Given the description of an element on the screen output the (x, y) to click on. 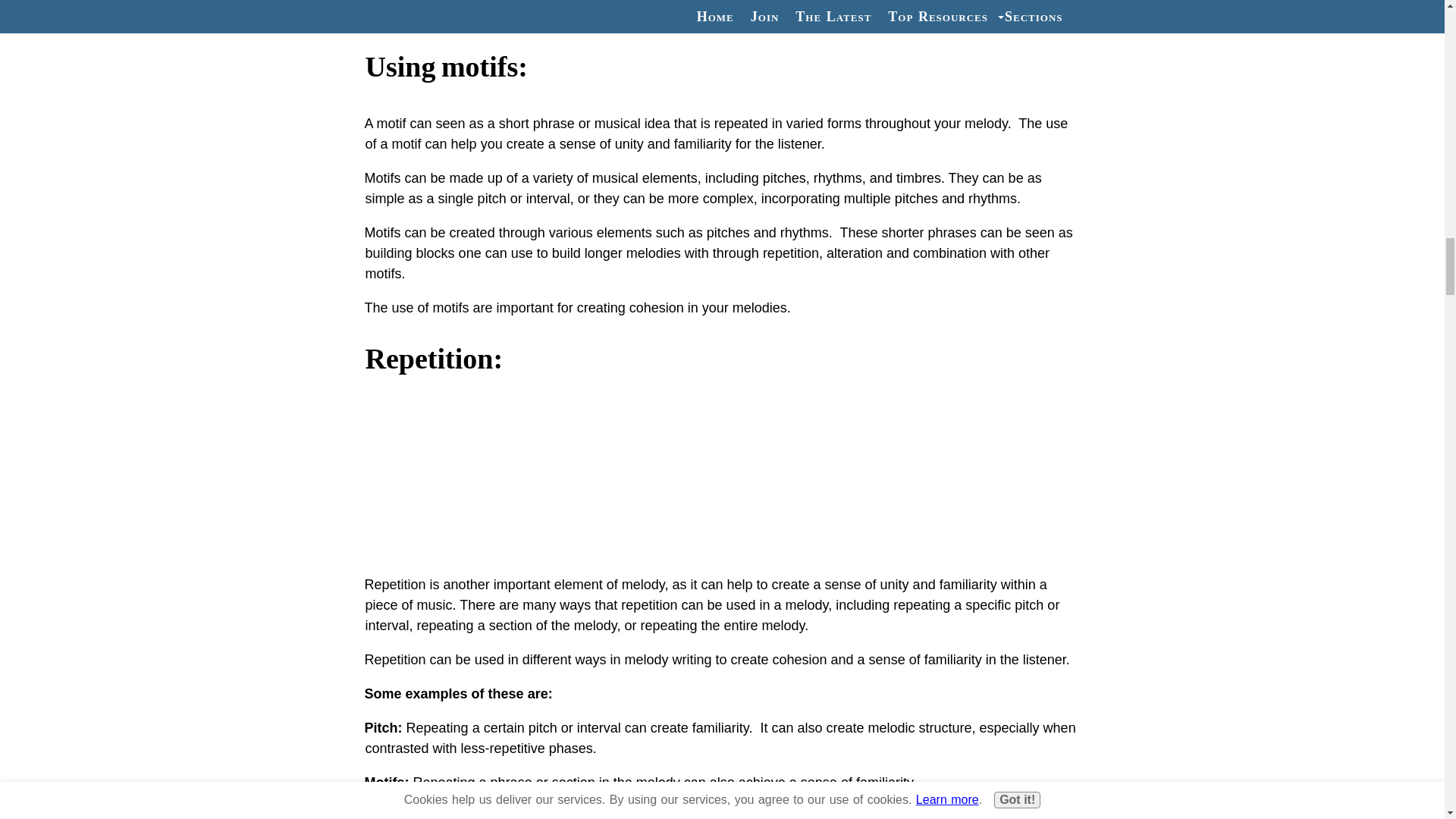
Image of repeating kiwis - Text "Repetition" (722, 474)
